Given the description of an element on the screen output the (x, y) to click on. 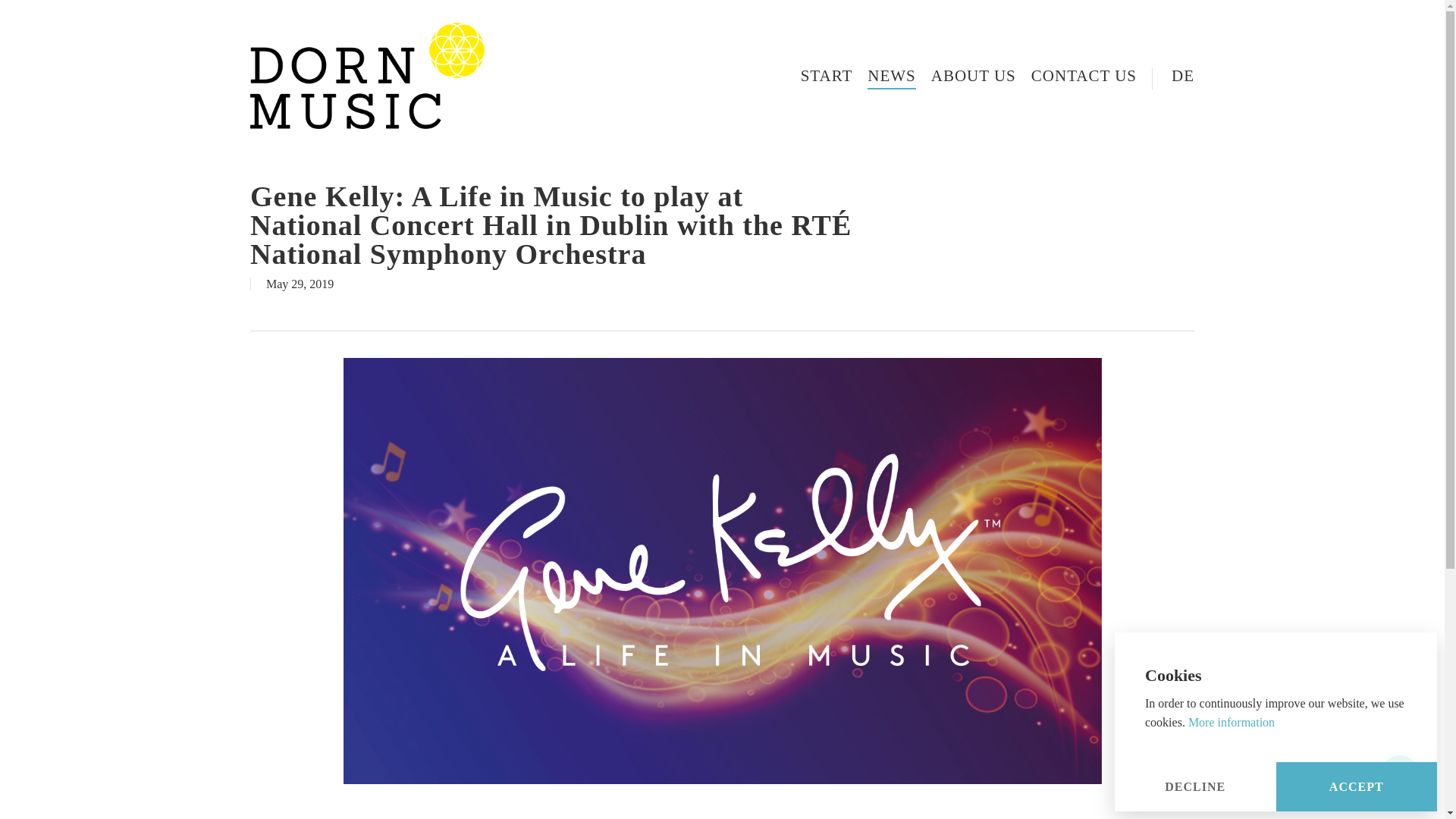
DECLINE (1195, 786)
START (826, 75)
DE (1172, 75)
ACCEPT (1356, 786)
More information (1231, 721)
ABOUT US (973, 75)
CONTACT US (1083, 75)
NEWS (891, 75)
De (1172, 75)
